Given the description of an element on the screen output the (x, y) to click on. 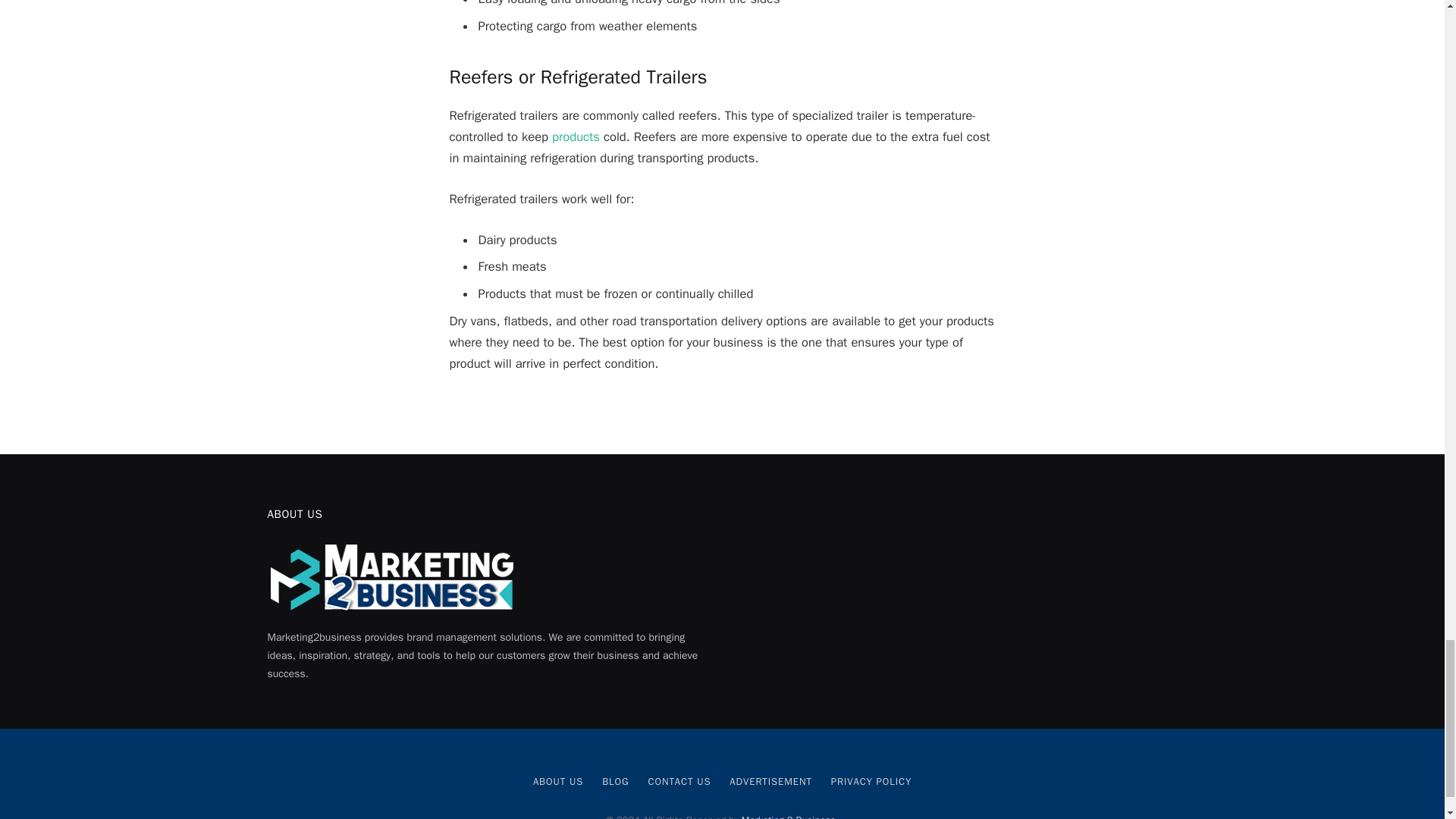
BLOG (615, 780)
ABOUT US (557, 780)
CONTACT US (678, 780)
products (575, 136)
